Given the description of an element on the screen output the (x, y) to click on. 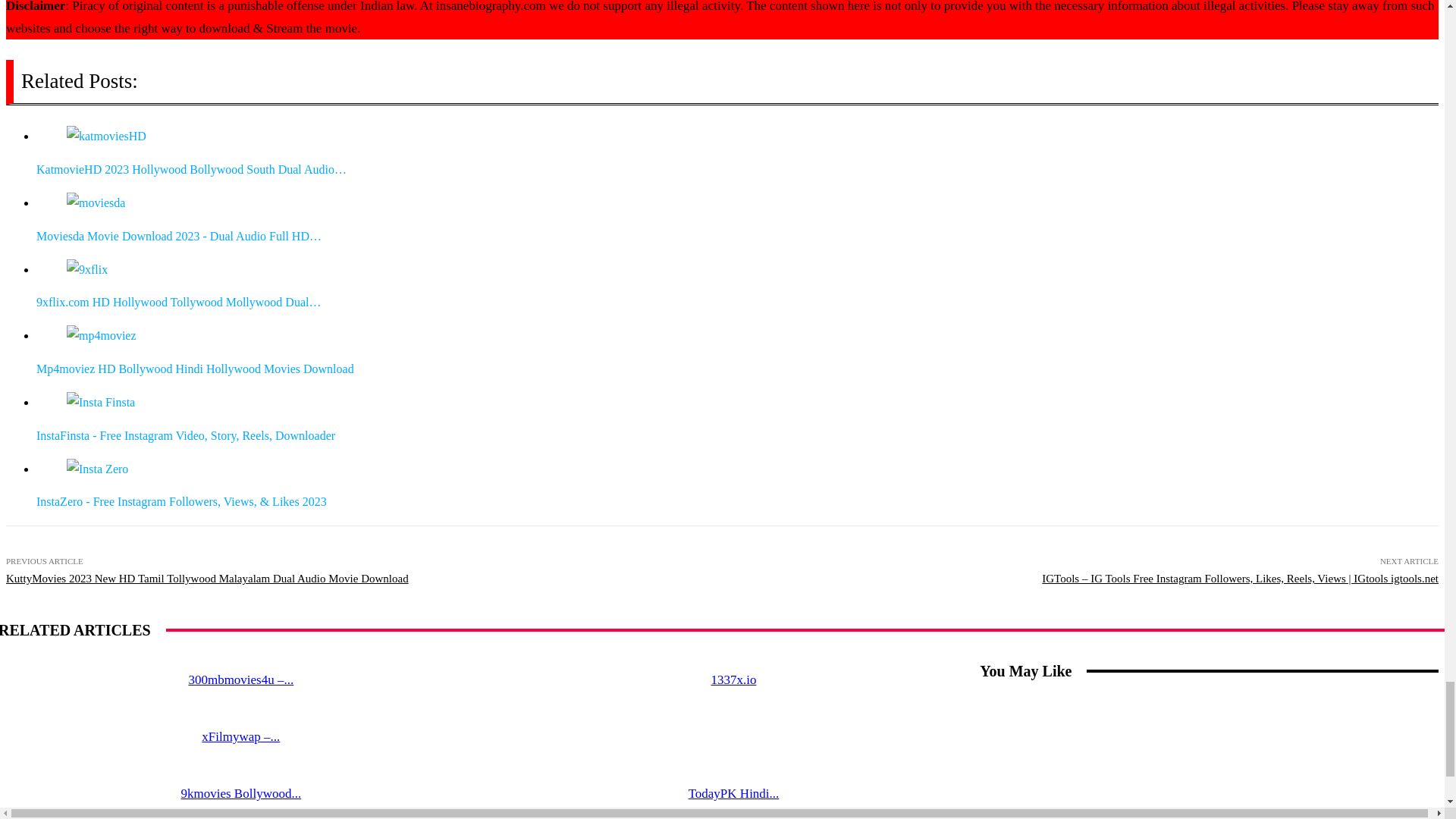
1337x.io (732, 679)
InstaFinsta - Free Instagram Video, Story, Reels, Downloader (100, 402)
